Given the description of an element on the screen output the (x, y) to click on. 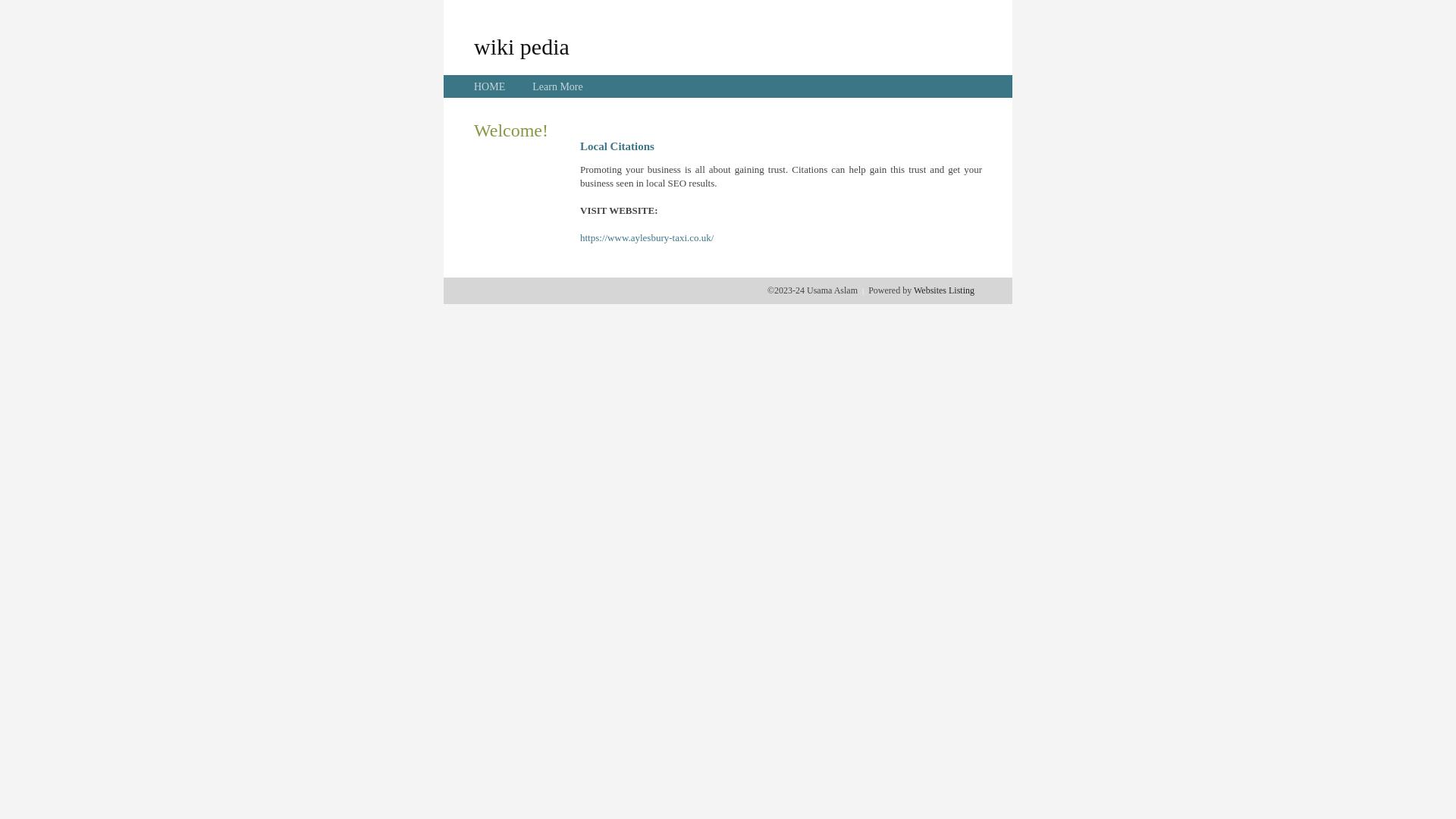
HOME Element type: text (489, 86)
wiki pedia Element type: text (521, 46)
https://www.aylesbury-taxi.co.uk/ Element type: text (646, 237)
Learn More Element type: text (557, 86)
Websites Listing Element type: text (943, 290)
